Given the description of an element on the screen output the (x, y) to click on. 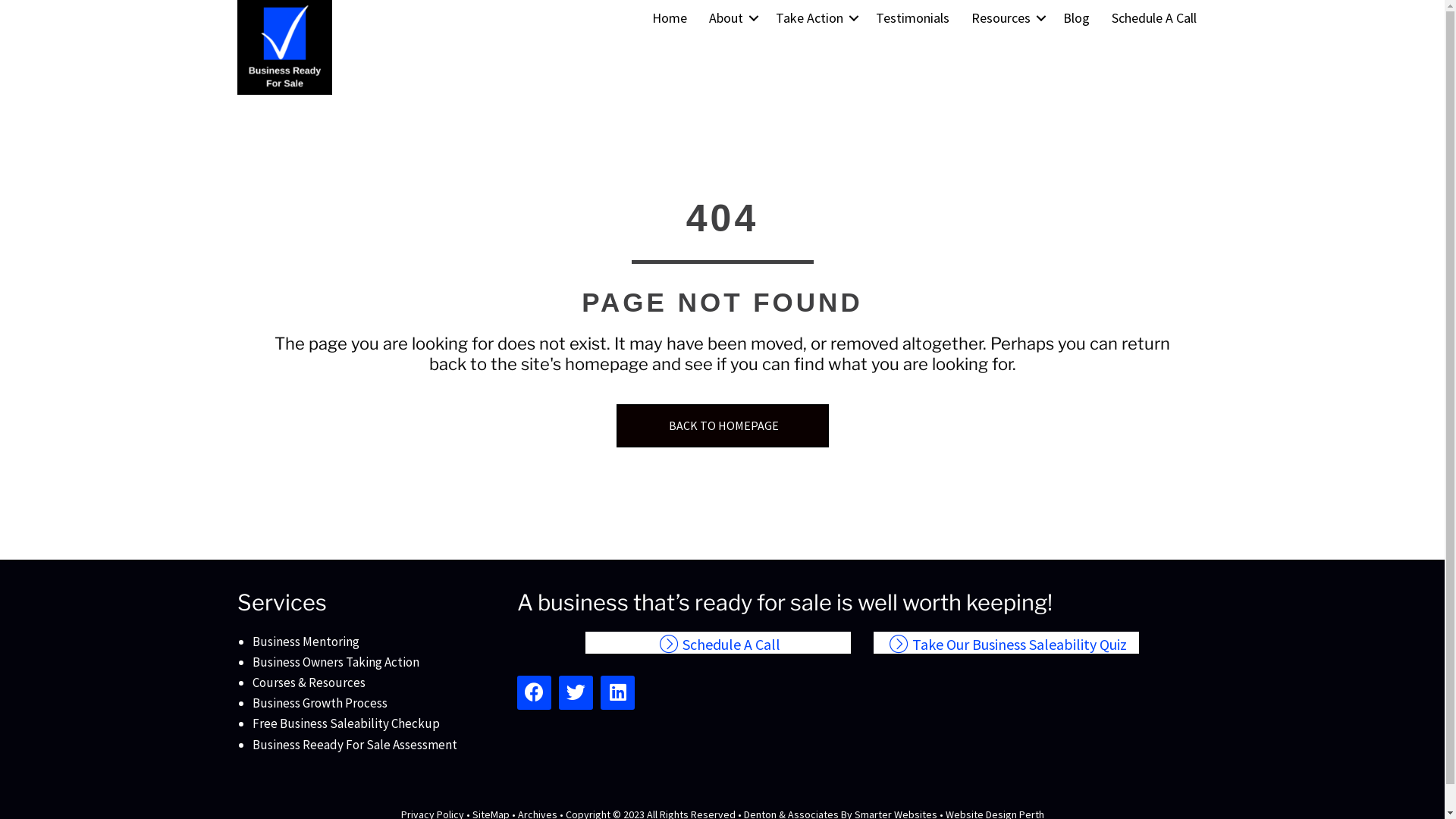
Business Reeady For Sale Assessment Element type: text (353, 744)
Take Our Business Saleability Quiz Element type: text (1006, 642)
Resources Element type: text (1005, 17)
cropped-Business-Ready-For-Sale-Logo-500x500-Bold.png Element type: hover (283, 47)
Business Growth Process Element type: text (318, 702)
Blog Element type: text (1076, 17)
Schedule A Call Element type: text (1154, 17)
Twitter Element type: hover (575, 692)
Testimonials Element type: text (912, 17)
Facebook Element type: hover (534, 692)
About Element type: text (731, 17)
Business Mentoring Element type: text (304, 641)
Take Action Element type: text (814, 17)
Business Owners Taking Action Element type: text (334, 661)
Courses & Resources Element type: text (307, 682)
Home Element type: text (669, 17)
Free Business Saleability Checkup Element type: text (345, 723)
Schedule A Call Element type: text (717, 642)
LinkedIn Element type: hover (617, 692)
BACK TO HOMEPAGE Element type: text (721, 425)
